Given the description of an element on the screen output the (x, y) to click on. 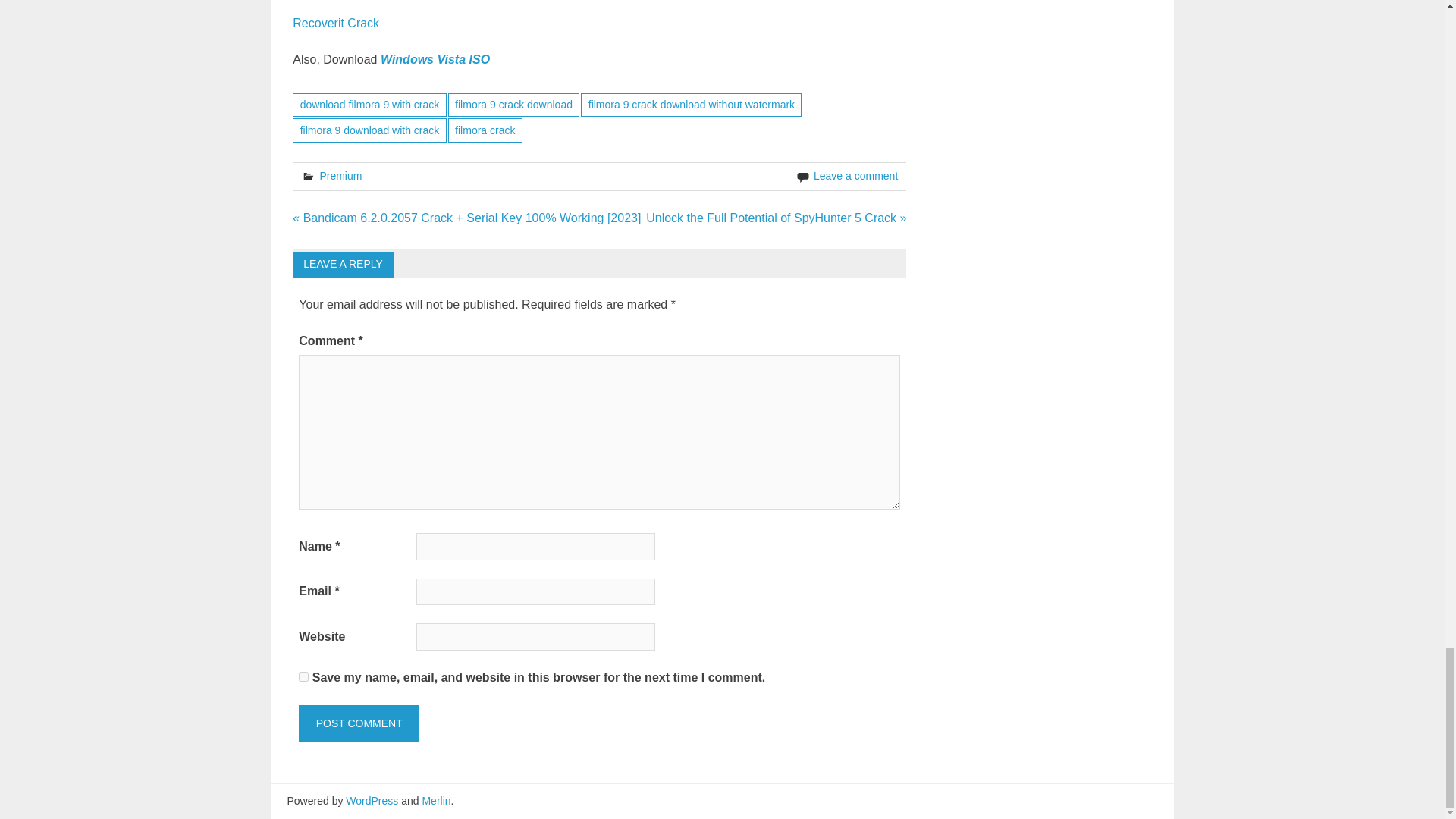
filmora 9 crack download without watermark (691, 105)
Windows Vista ISO (434, 59)
yes (303, 676)
filmora crack (485, 129)
Recoverit Crack (335, 22)
Premium (339, 175)
filmora 9 crack download (513, 105)
Merlin WordPress Theme (435, 800)
download filmora 9 with crack (368, 105)
WordPress (371, 800)
Post Comment (358, 723)
Leave a comment (855, 175)
Post Comment (358, 723)
filmora 9 download with crack (368, 129)
